Given the description of an element on the screen output the (x, y) to click on. 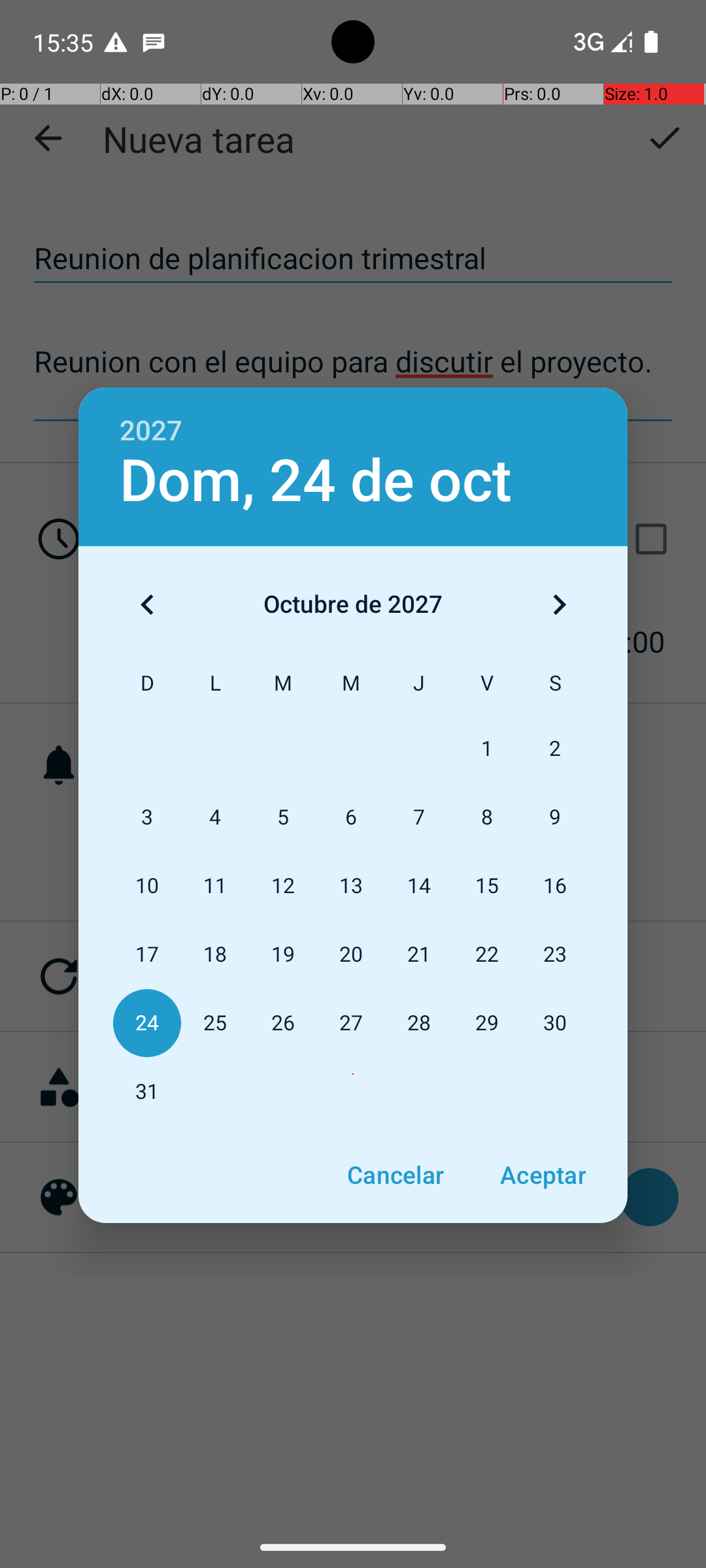
2027 Element type: android.widget.TextView (150, 430)
Dom, 24 de oct Element type: android.widget.TextView (315, 480)
Mes anterior Element type: android.widget.ImageButton (146, 604)
Mes siguiente Element type: android.widget.ImageButton (558, 604)
Cancelar Element type: android.widget.Button (394, 1174)
Aceptar Element type: android.widget.Button (542, 1174)
